Given the description of an element on the screen output the (x, y) to click on. 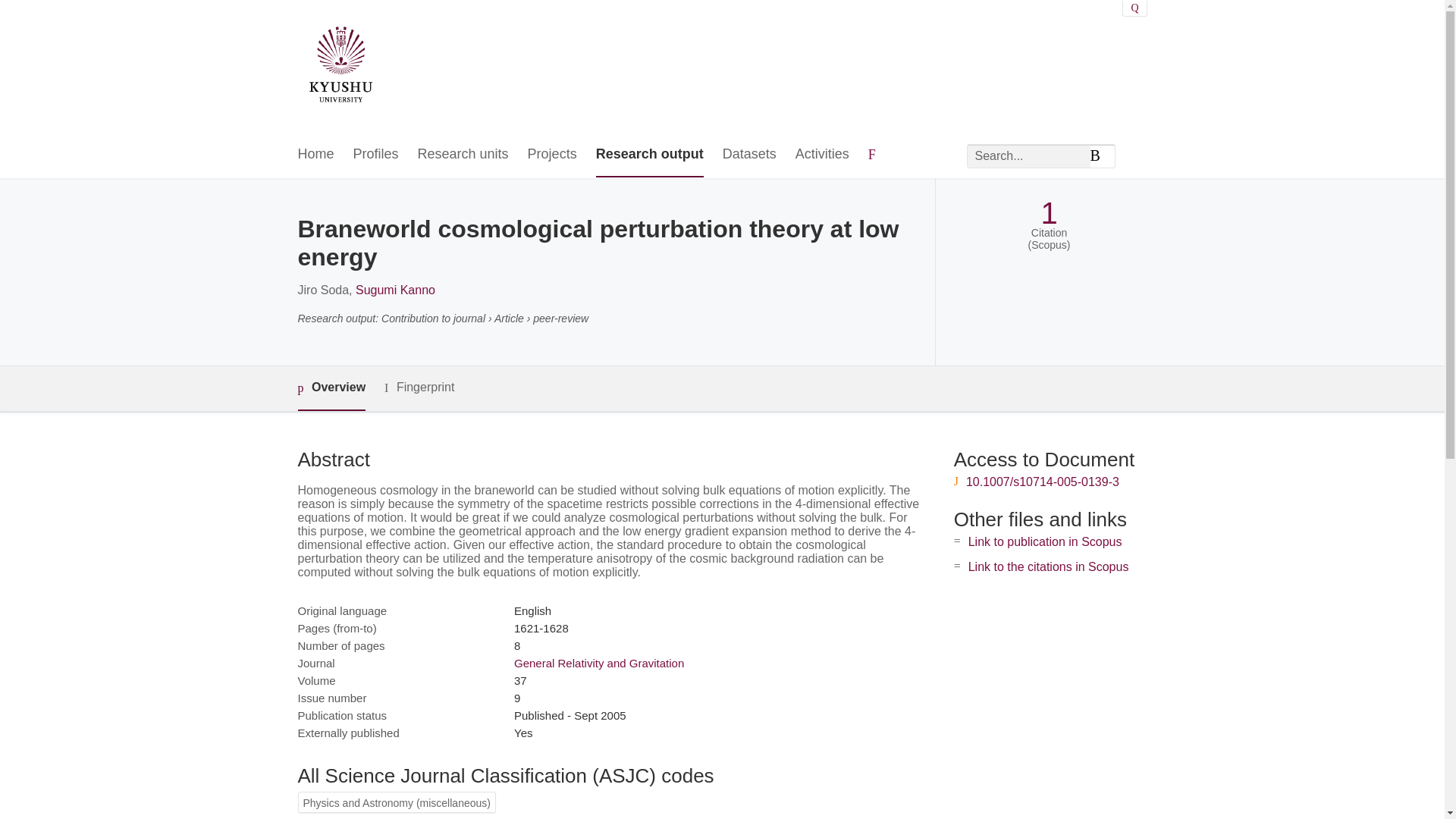
General Relativity and Gravitation (598, 662)
Activities (821, 154)
Overview (331, 388)
Sugumi Kanno (395, 289)
Fingerprint (419, 387)
Link to the citations in Scopus (1048, 566)
Research units (462, 154)
Link to publication in Scopus (1045, 541)
Datasets (749, 154)
Research output (649, 154)
Profiles (375, 154)
Projects (551, 154)
